Given the description of an element on the screen output the (x, y) to click on. 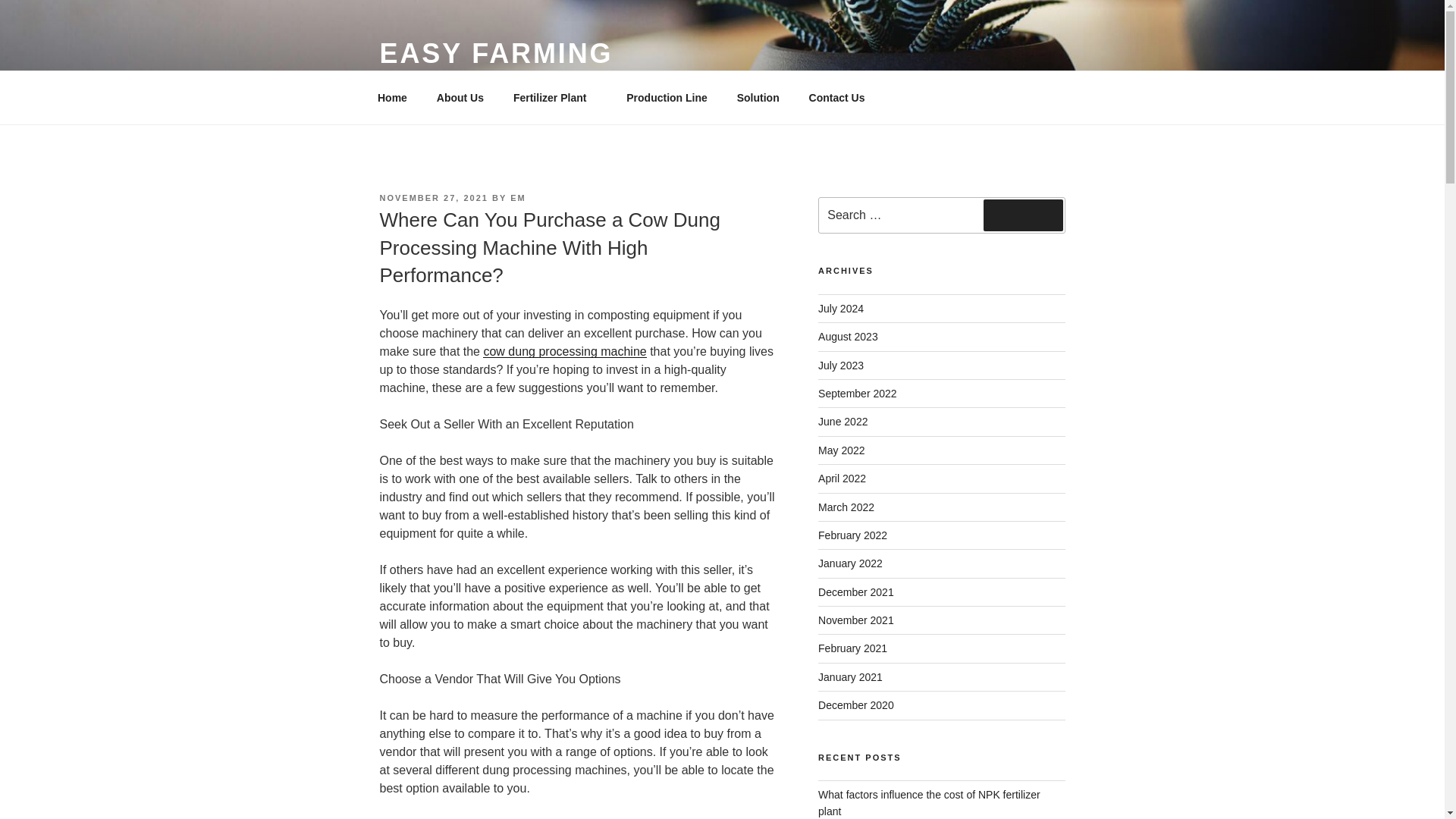
cow dung processing machine (564, 350)
Home (392, 97)
Solution (757, 97)
NOVEMBER 27, 2021 (432, 197)
EM (518, 197)
EASY FARMING (495, 52)
August 2023 (847, 336)
About Us (459, 97)
Fertilizer Plant (554, 97)
July 2024 (840, 308)
Contact Us (835, 97)
Search (1023, 214)
Production Line (666, 97)
